Given the description of an element on the screen output the (x, y) to click on. 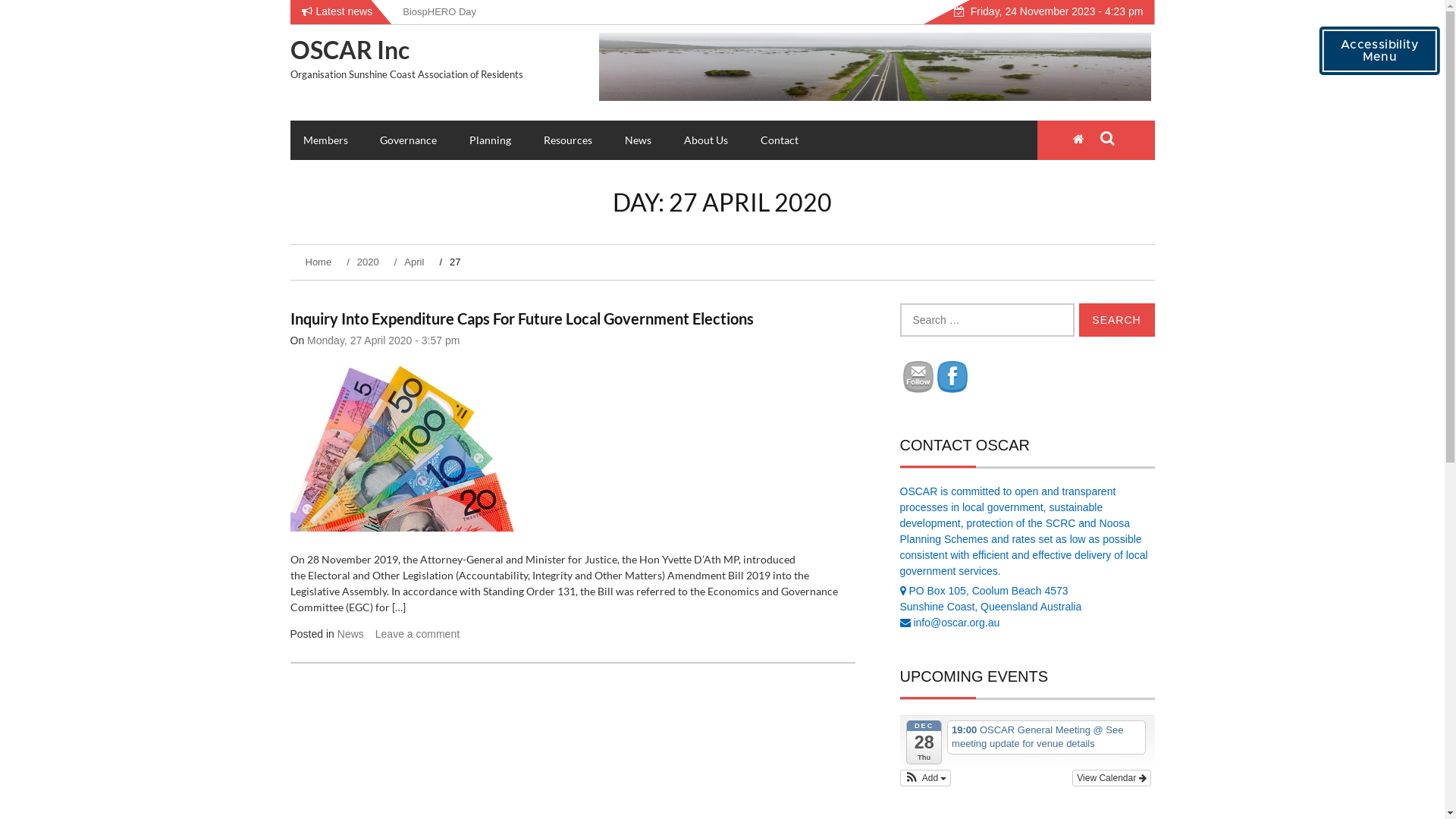
Resources Element type: text (567, 140)
Facebook Element type: hover (952, 376)
Contact Element type: text (779, 140)
OSCAR Inc Element type: text (348, 49)
Follow by Email Element type: hover (917, 376)
News Element type: text (350, 633)
DEC
28
Thu Element type: text (923, 742)
info@oscar.org.au Element type: text (956, 622)
Search Element type: text (1116, 319)
2020 Element type: text (364, 261)
April Element type: text (411, 261)
Governance Element type: text (408, 140)
View Calendar Element type: text (1111, 777)
Home Element type: text (319, 261)
Leave a comment Element type: text (417, 633)
News Element type: text (637, 140)
Monday, 27 April 2020 - 3:57 pm Element type: text (383, 340)
Planning Element type: text (490, 140)
About Us Element type: text (705, 140)
Members Element type: text (324, 140)
BiospHERO Day Element type: text (439, 11)
